Given the description of an element on the screen output the (x, y) to click on. 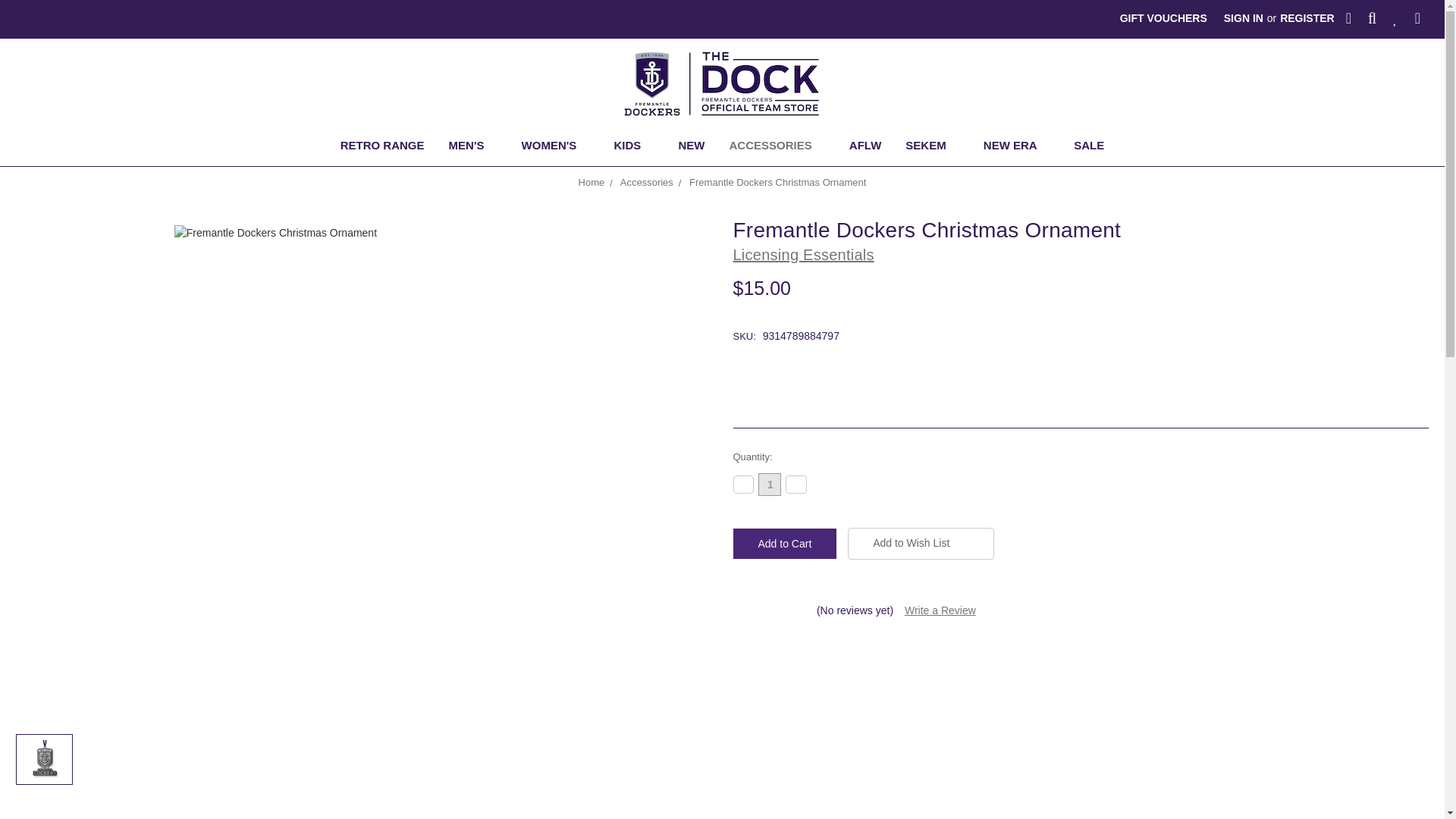
GIFT VOUCHERS (1163, 18)
Fremantle Dockers Christmas Ornament (45, 759)
RETRO RANGE (382, 147)
MEN'S (472, 147)
ACCESSORIES (777, 147)
1 (769, 484)
SIGN IN (1243, 18)
REGISTER (1306, 18)
The Dock, Fremantle Dockers Team Store (721, 83)
NEW (690, 147)
